Given the description of an element on the screen output the (x, y) to click on. 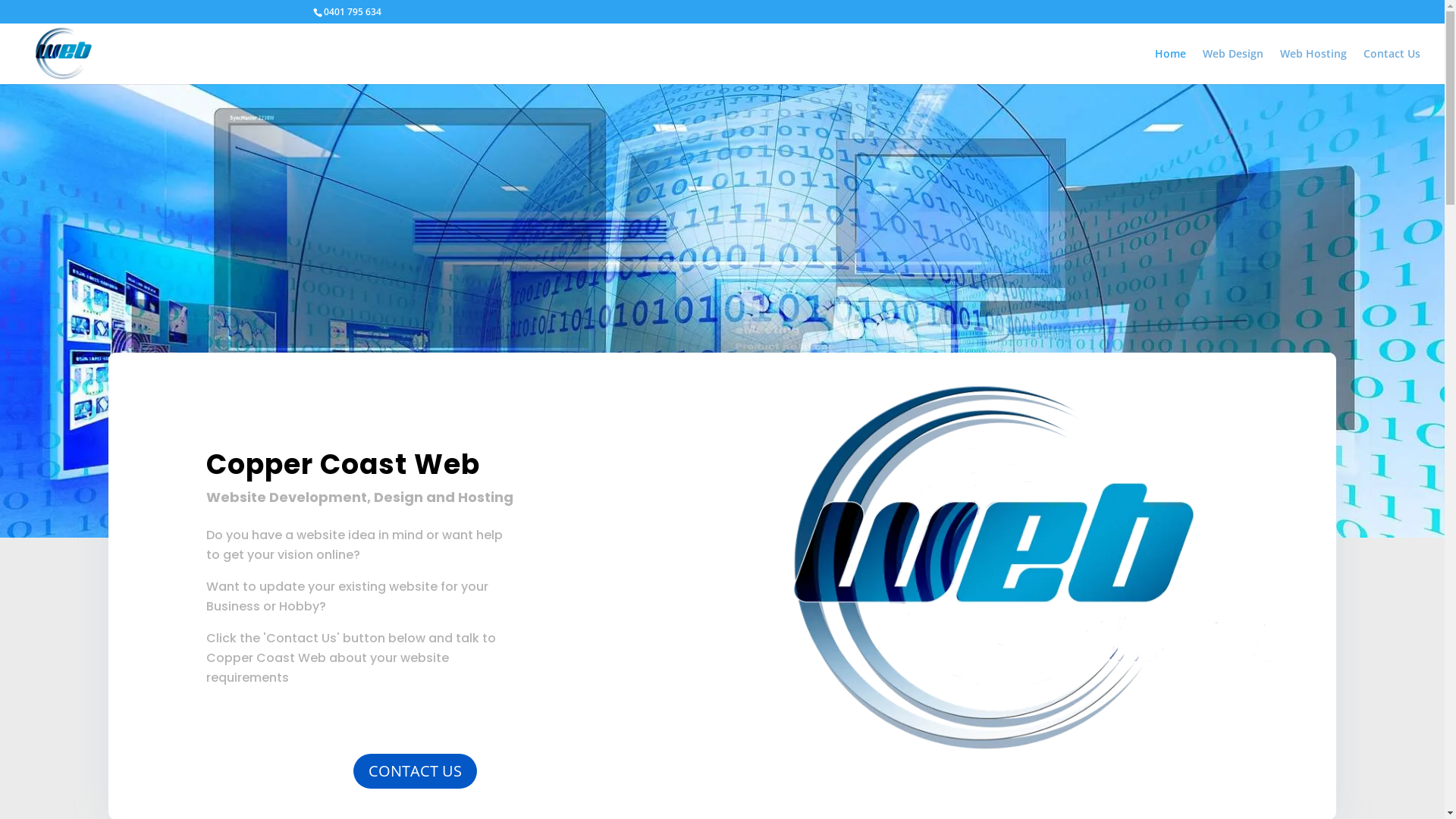
Web Design Element type: text (1232, 66)
CONTACT US Element type: text (414, 770)
Home Element type: text (1170, 66)
Contact Us Element type: text (1391, 66)
Web Hosting Element type: text (1313, 66)
